Given the description of an element on the screen output the (x, y) to click on. 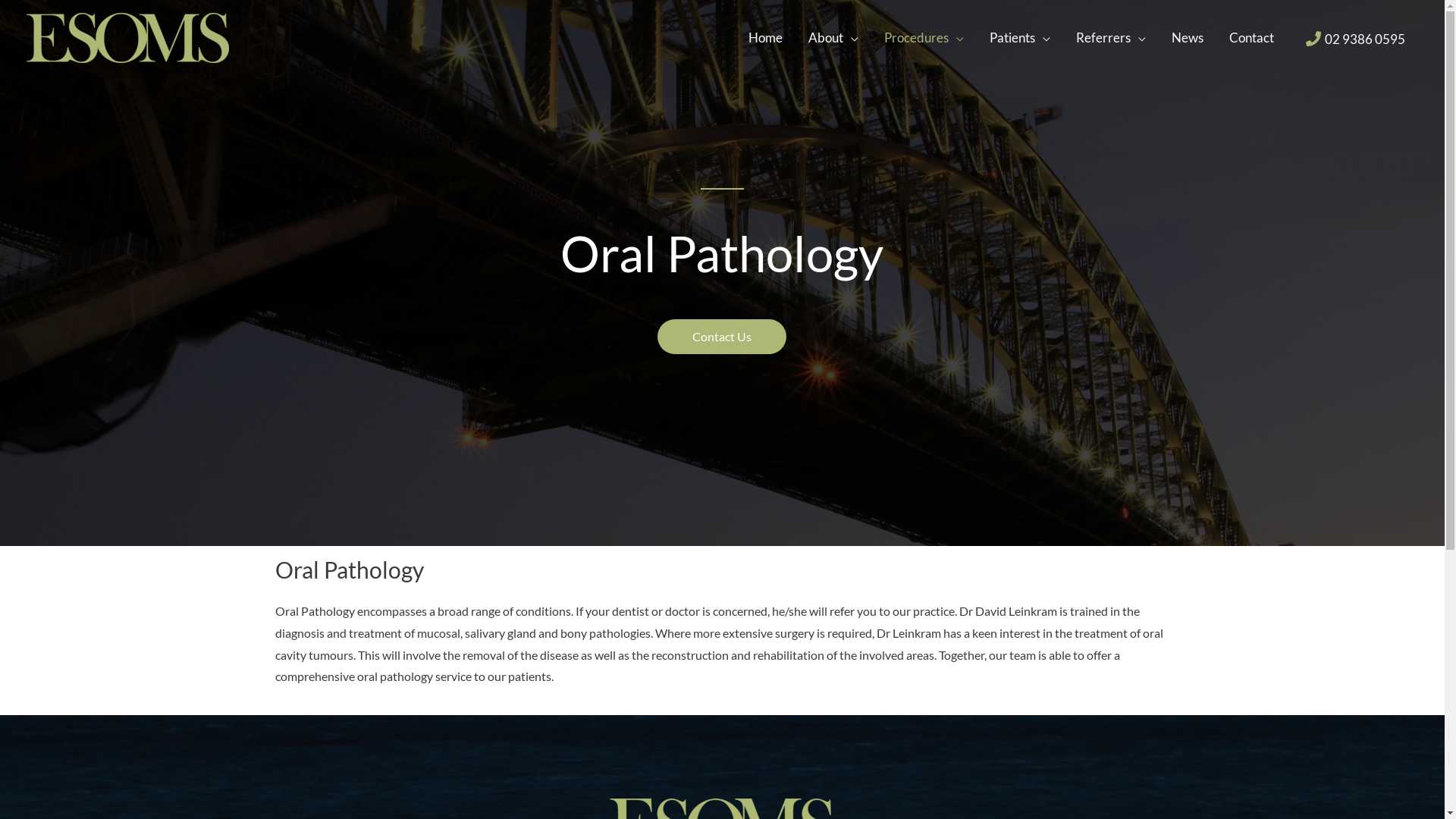
News Element type: text (1187, 37)
02 9386 0595 Element type: text (1355, 39)
About Element type: text (832, 37)
Patients Element type: text (1019, 37)
Procedures Element type: text (922, 37)
Contact Us Element type: text (721, 336)
Referrers Element type: text (1110, 37)
Contact Element type: text (1251, 37)
Home Element type: text (765, 37)
